Given the description of an element on the screen output the (x, y) to click on. 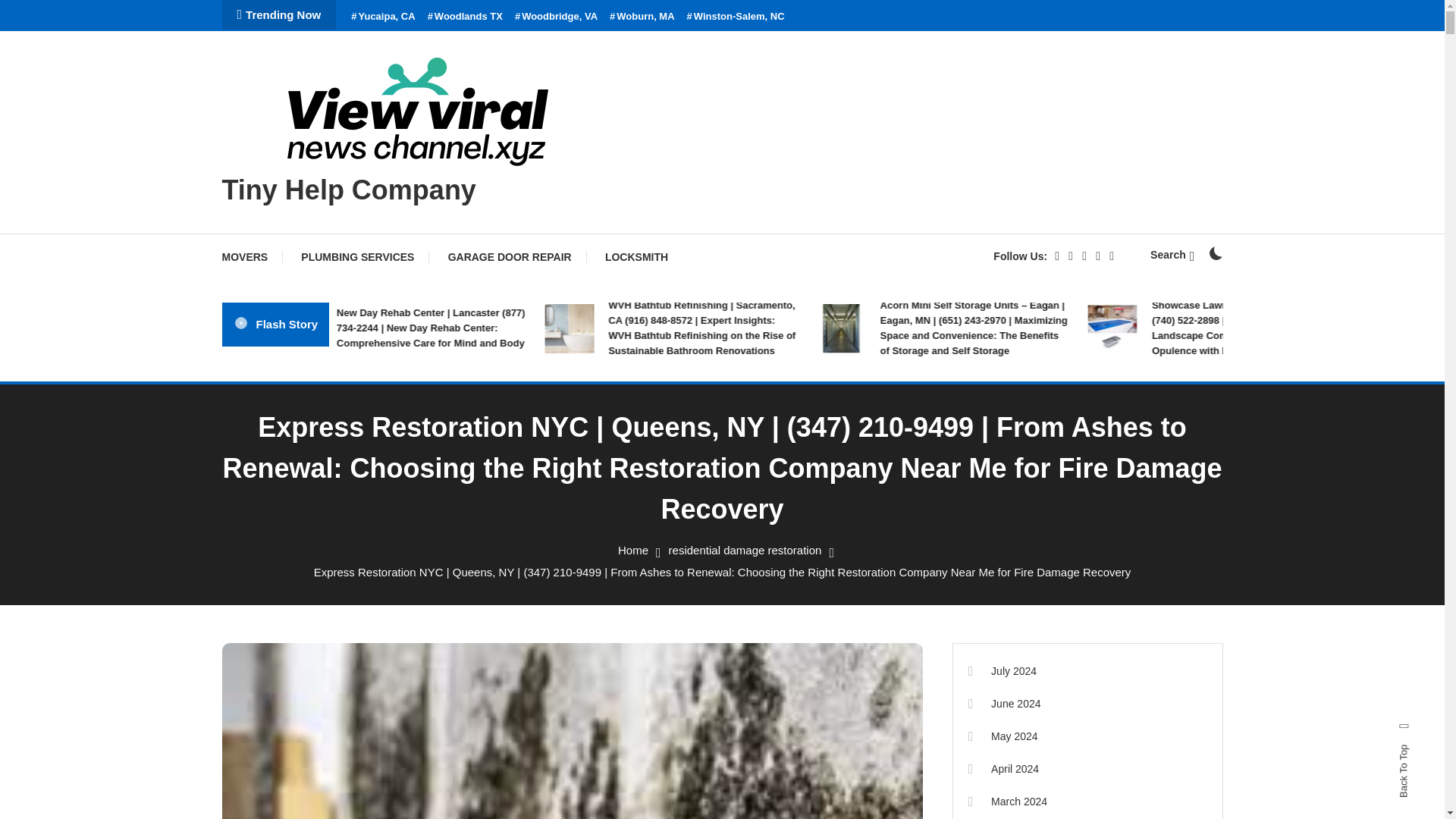
Woodbridge, VA (555, 16)
Woburn, MA (642, 16)
Search (1171, 254)
Yucaipa, CA (382, 16)
LOCKSMITH (635, 257)
Search (768, 434)
GARAGE DOOR REPAIR (509, 257)
Home (632, 549)
Tiny Help Company (348, 189)
Woodlands TX (465, 16)
Winston-Salem, NC (735, 16)
on (1215, 253)
PLUMBING SERVICES (357, 257)
MOVERS (251, 257)
